Given the description of an element on the screen output the (x, y) to click on. 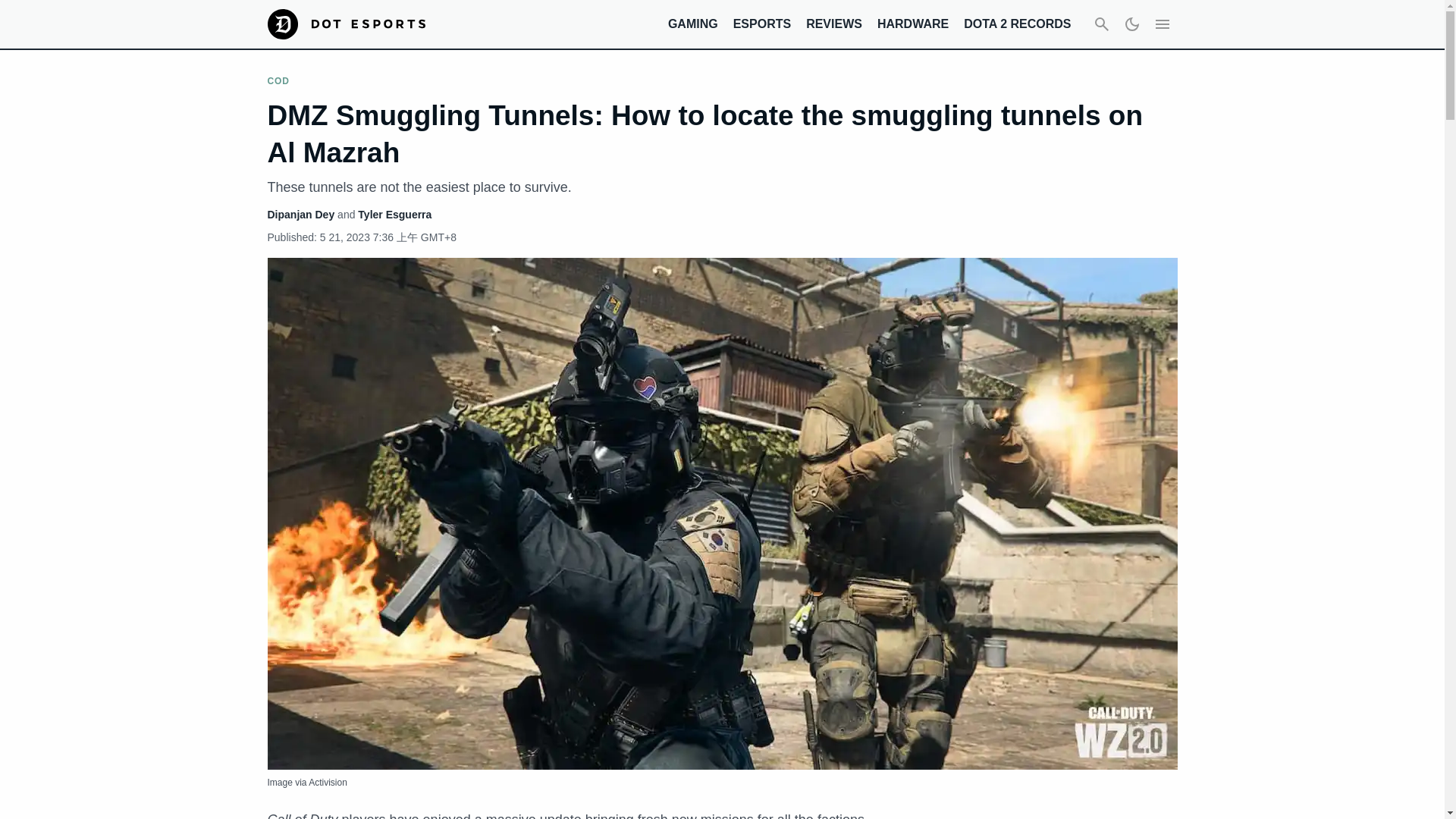
HARDWARE (913, 23)
Dark Mode (1131, 24)
REVIEWS (833, 23)
ESPORTS (761, 23)
DOTA 2 RECORDS (1016, 23)
GAMING (692, 23)
Search (1101, 24)
Expand Menu (1161, 24)
